Given the description of an element on the screen output the (x, y) to click on. 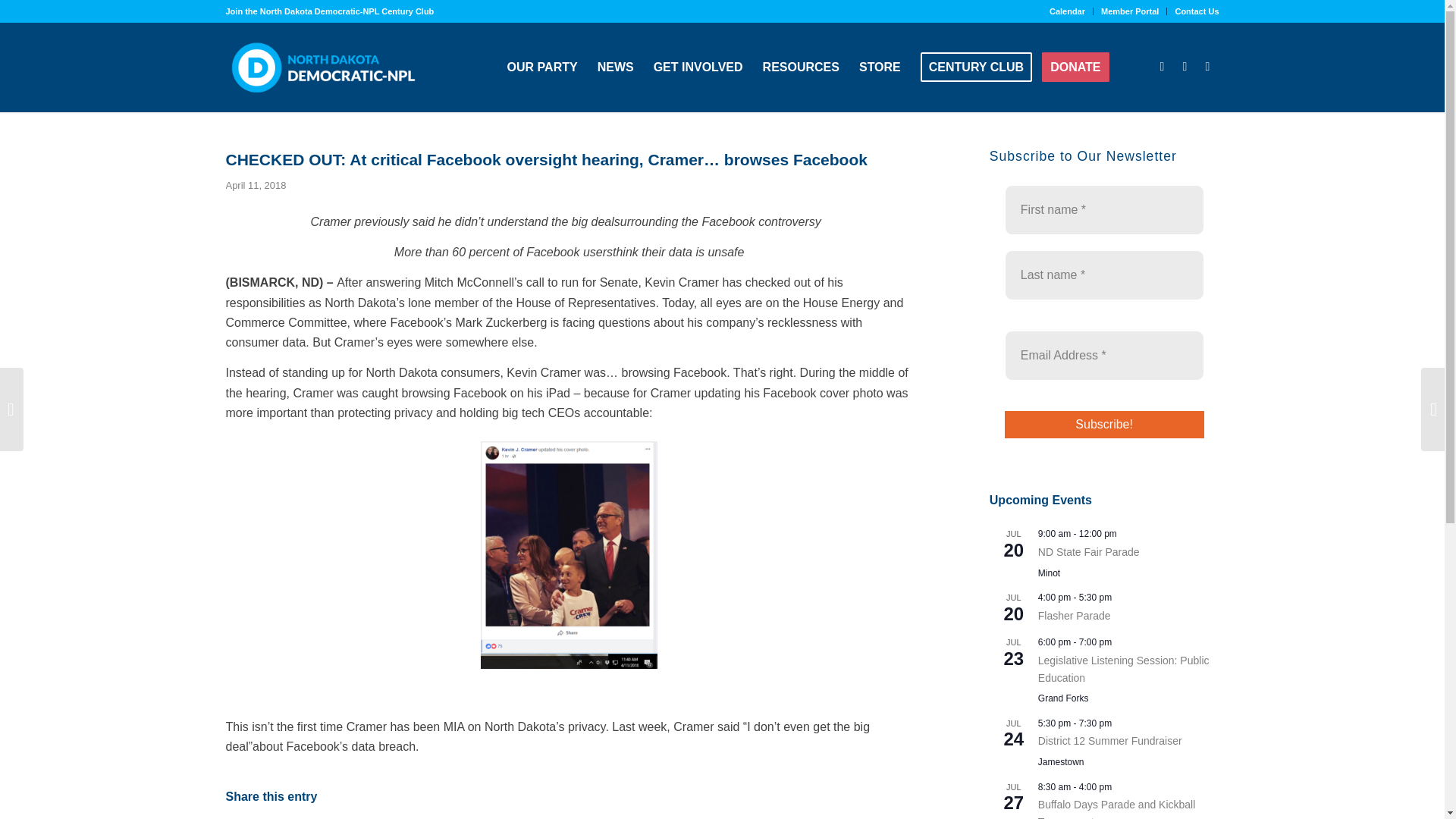
Instagram (1208, 66)
Facebook (1162, 66)
OUR PARTY (542, 67)
First name (1104, 210)
CENTURY CLUB (976, 67)
Last name (1104, 275)
Email Address (1104, 355)
Go to Homepage (322, 67)
More than 60 percent of Facebook users (503, 251)
RESOURCES (800, 67)
Contact Us (1196, 11)
GET INVOLVED (697, 67)
Join the North Dakota Democratic-NPL Century Club (329, 10)
Calendar (1066, 11)
Subscribe! (1104, 424)
